Given the description of an element on the screen output the (x, y) to click on. 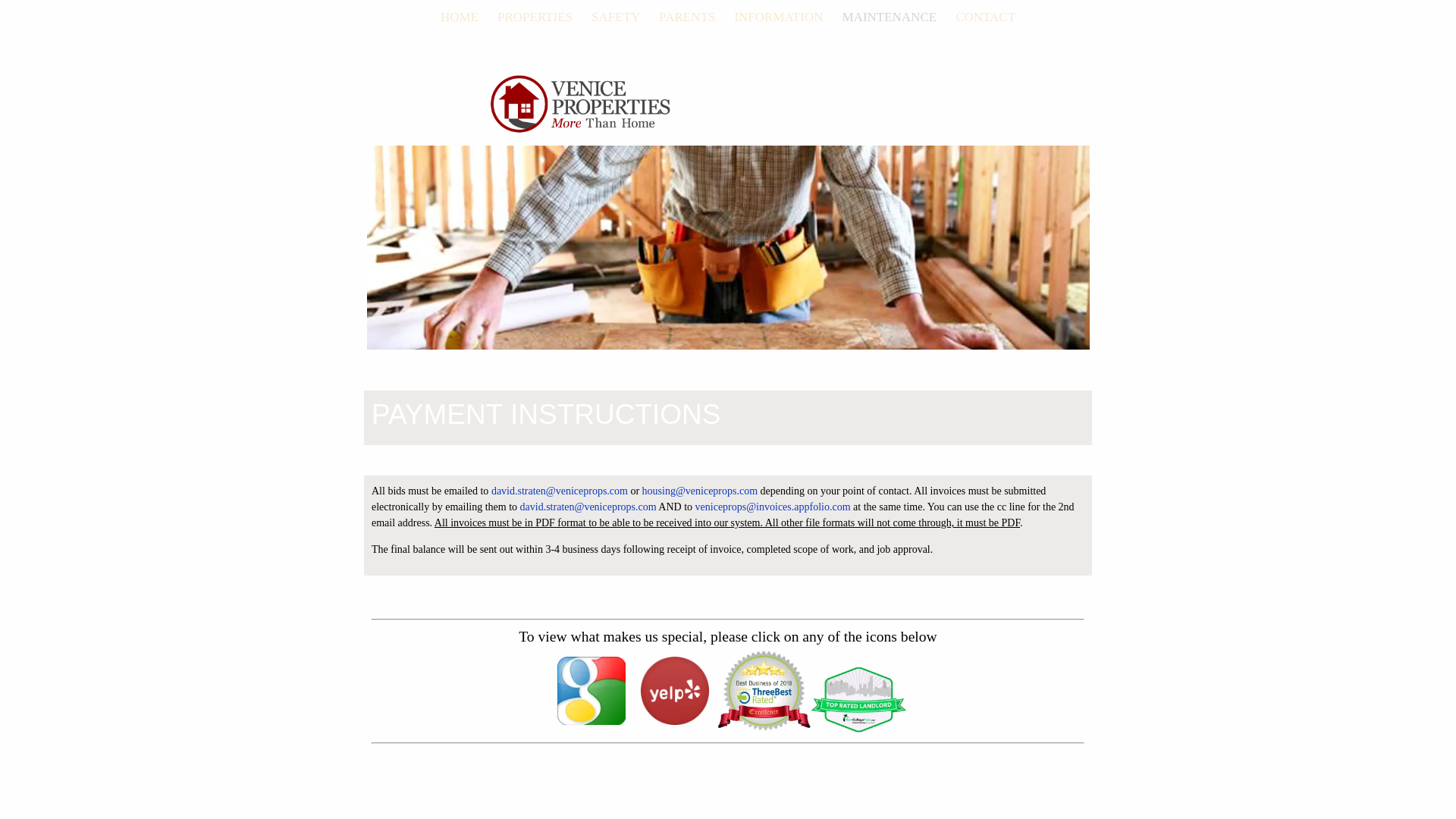
MAINTENANCE (888, 17)
SAFETY (615, 17)
CONTACT (984, 17)
PROPERTIES (534, 17)
HOME (460, 17)
PARENTS (686, 17)
INFORMATION (777, 17)
